Given the description of an element on the screen output the (x, y) to click on. 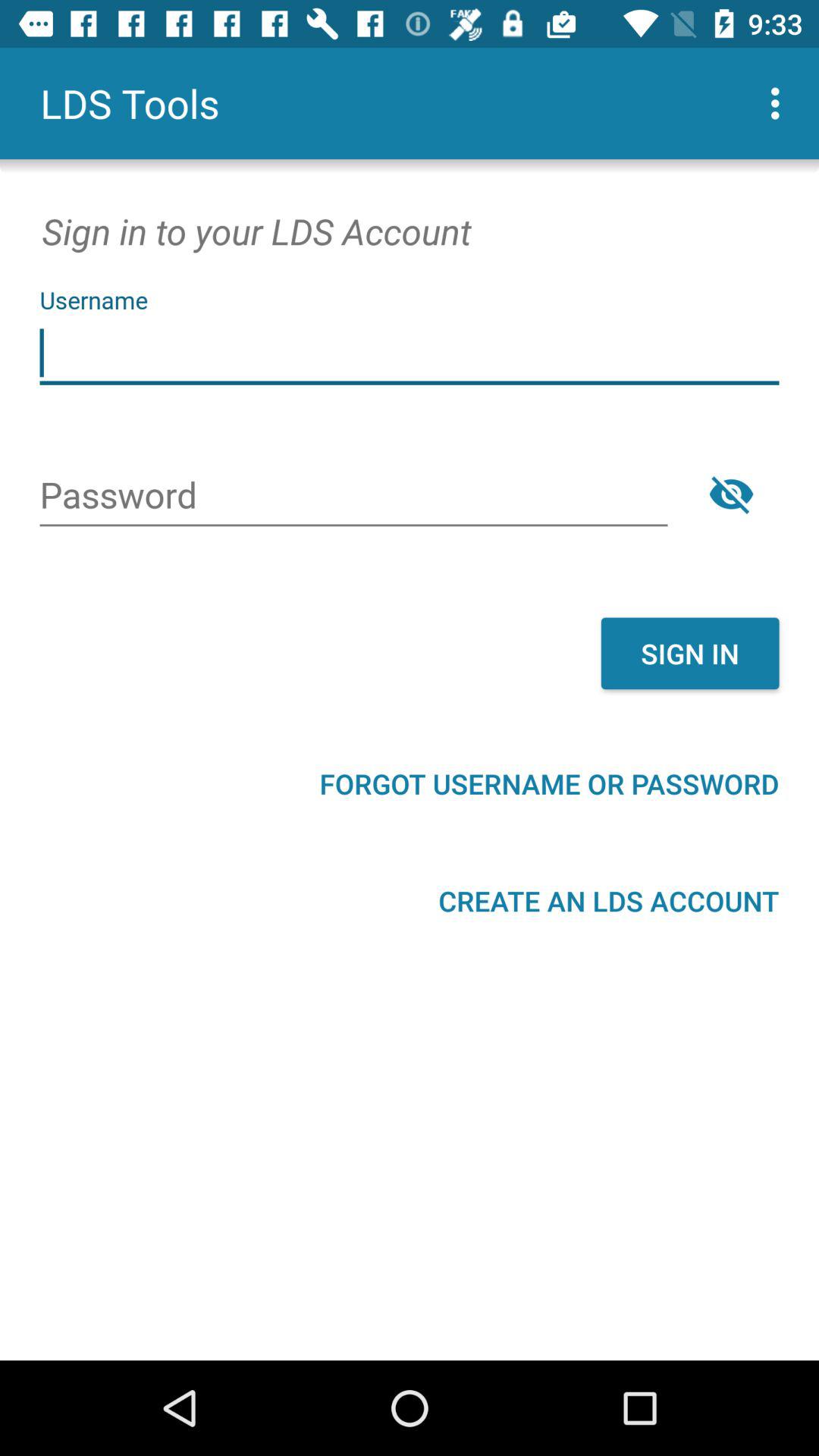
enter username (409, 353)
